Given the description of an element on the screen output the (x, y) to click on. 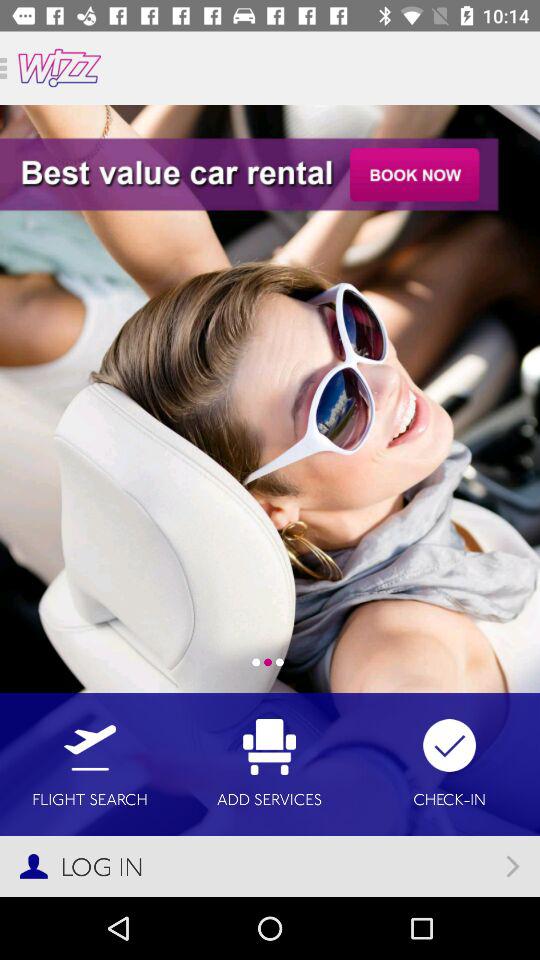
turn off check-in (449, 764)
